Given the description of an element on the screen output the (x, y) to click on. 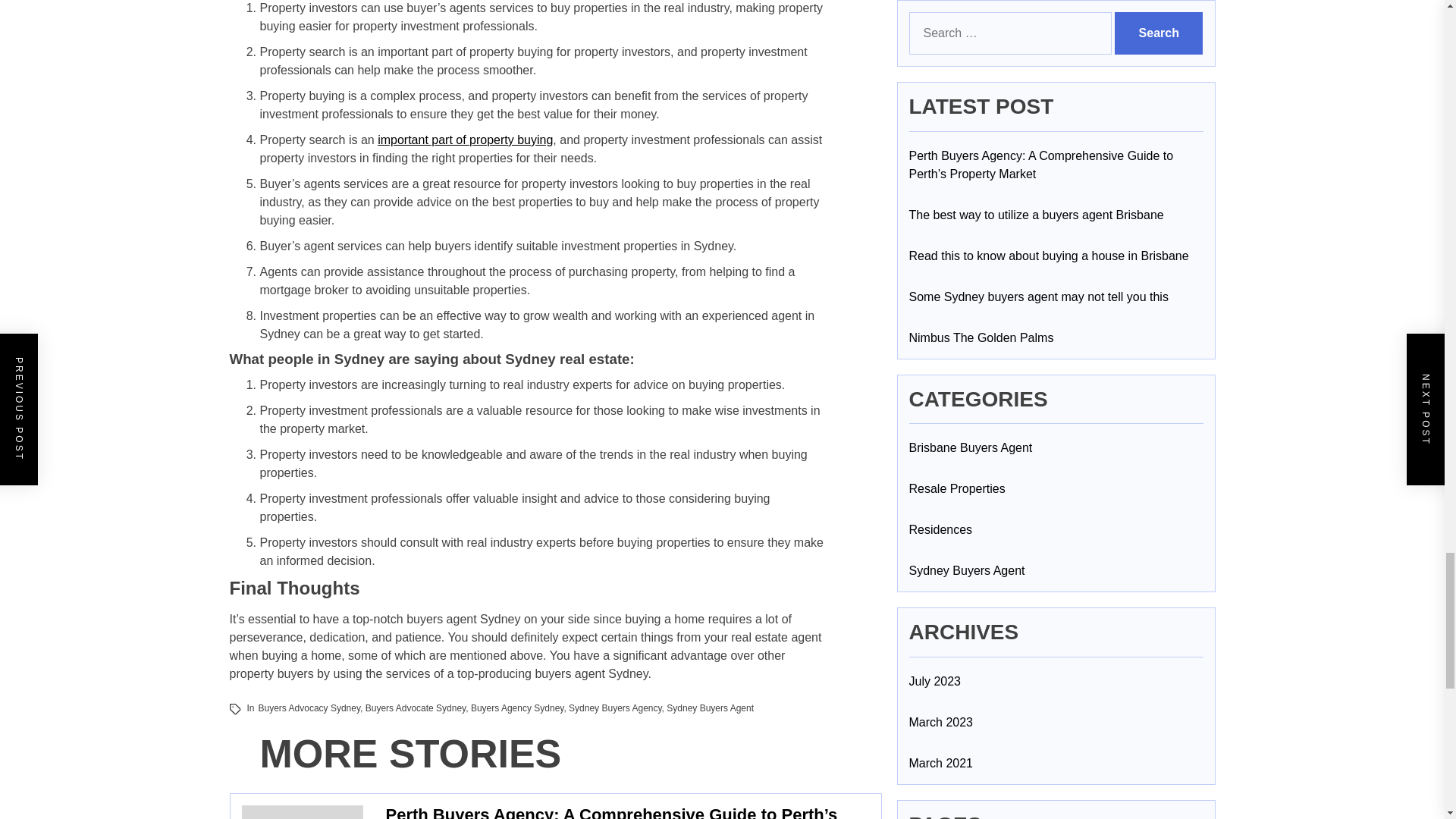
important part of property buying (465, 139)
Buyers Advocacy Sydney (310, 707)
